Given the description of an element on the screen output the (x, y) to click on. 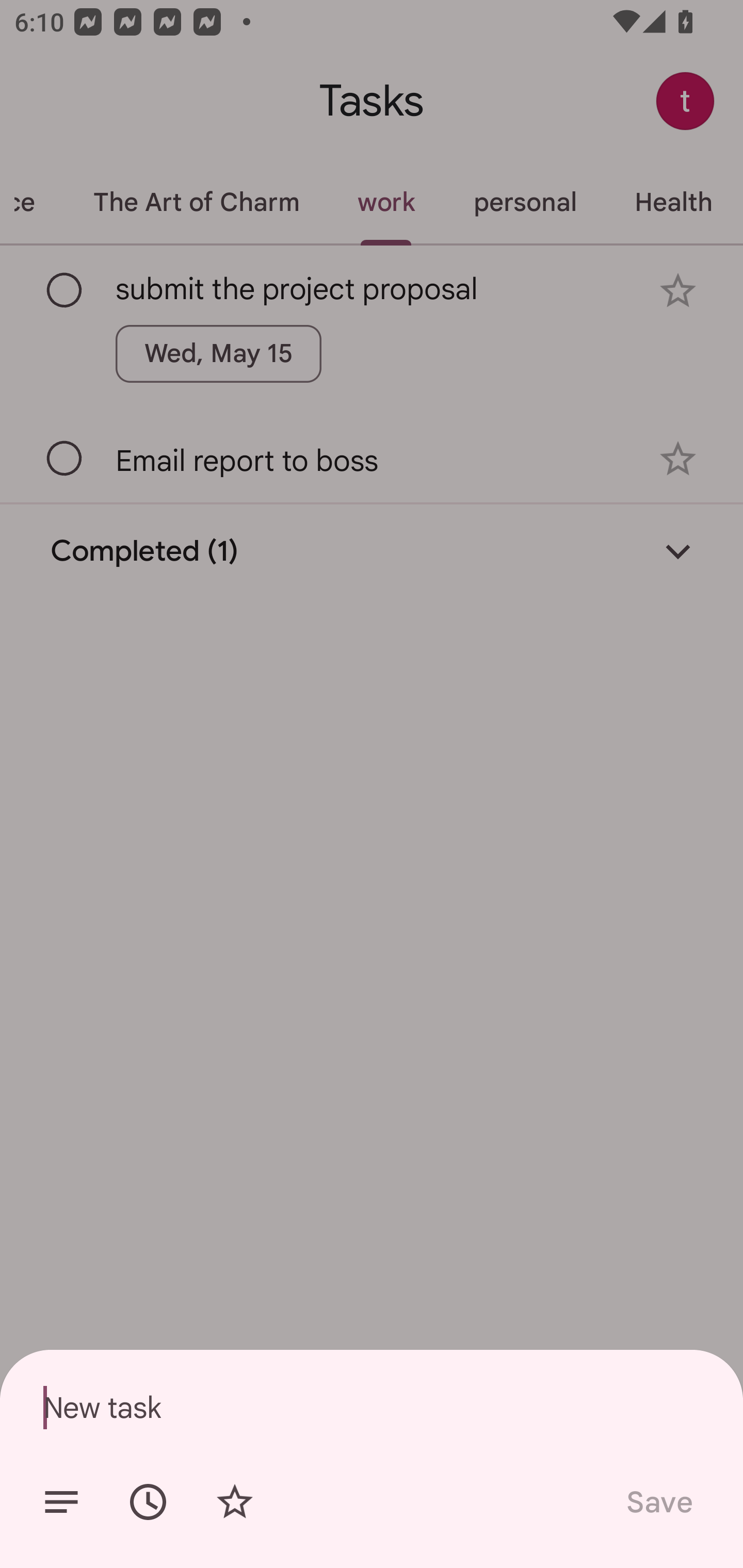
New task (371, 1407)
Save (659, 1501)
Add details (60, 1501)
Set date/time (147, 1501)
Add star (234, 1501)
